Given the description of an element on the screen output the (x, y) to click on. 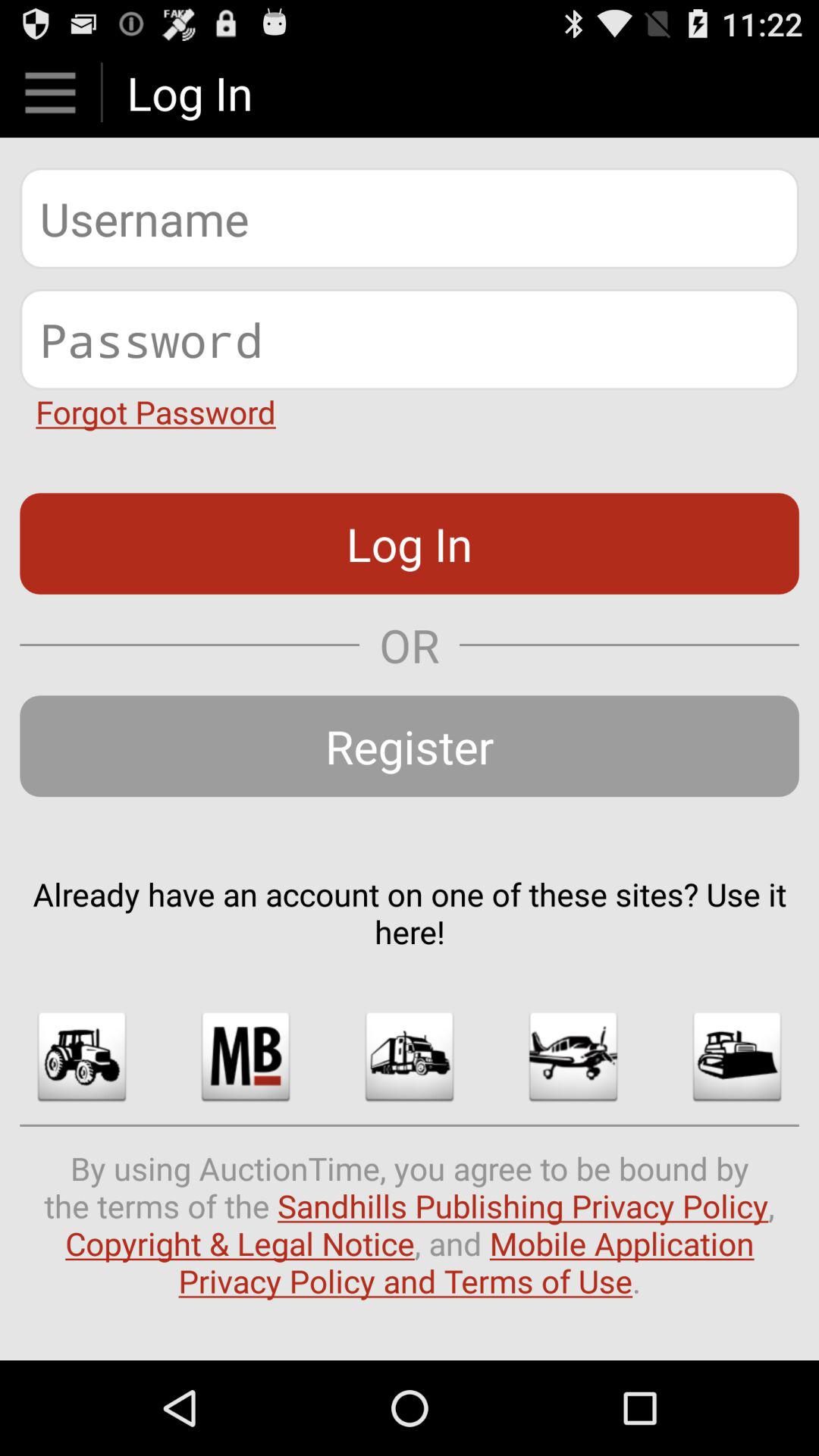
password (409, 339)
